Given the description of an element on the screen output the (x, y) to click on. 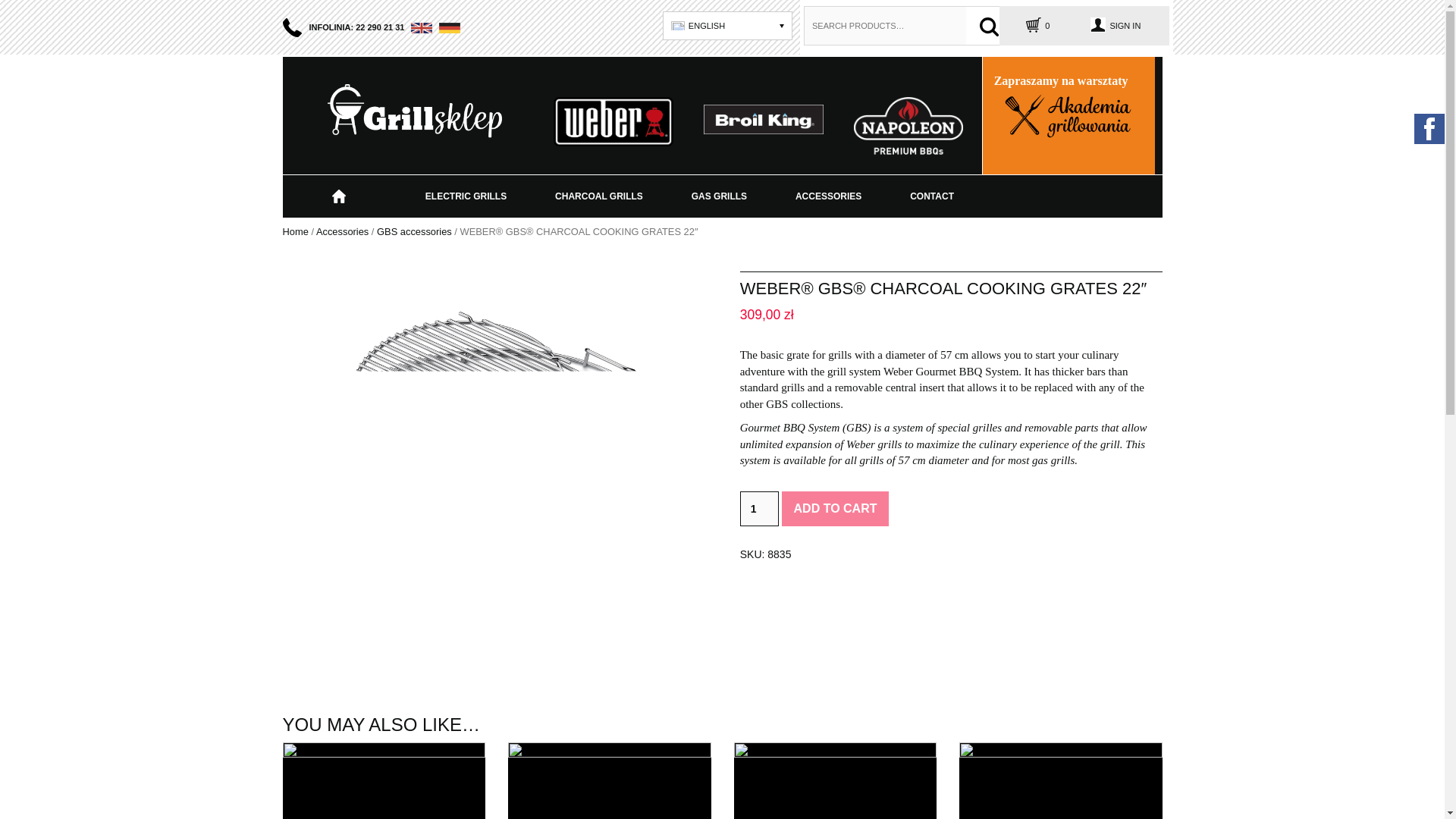
0 (1036, 25)
Login (1115, 25)
GAS GRILLS (718, 196)
Accessories (341, 231)
Search (989, 26)
See your cart (1036, 25)
CHARCOAL GRILLS (598, 196)
ELECTRIC GRILLS (465, 196)
ADD TO CART (835, 508)
